Given the description of an element on the screen output the (x, y) to click on. 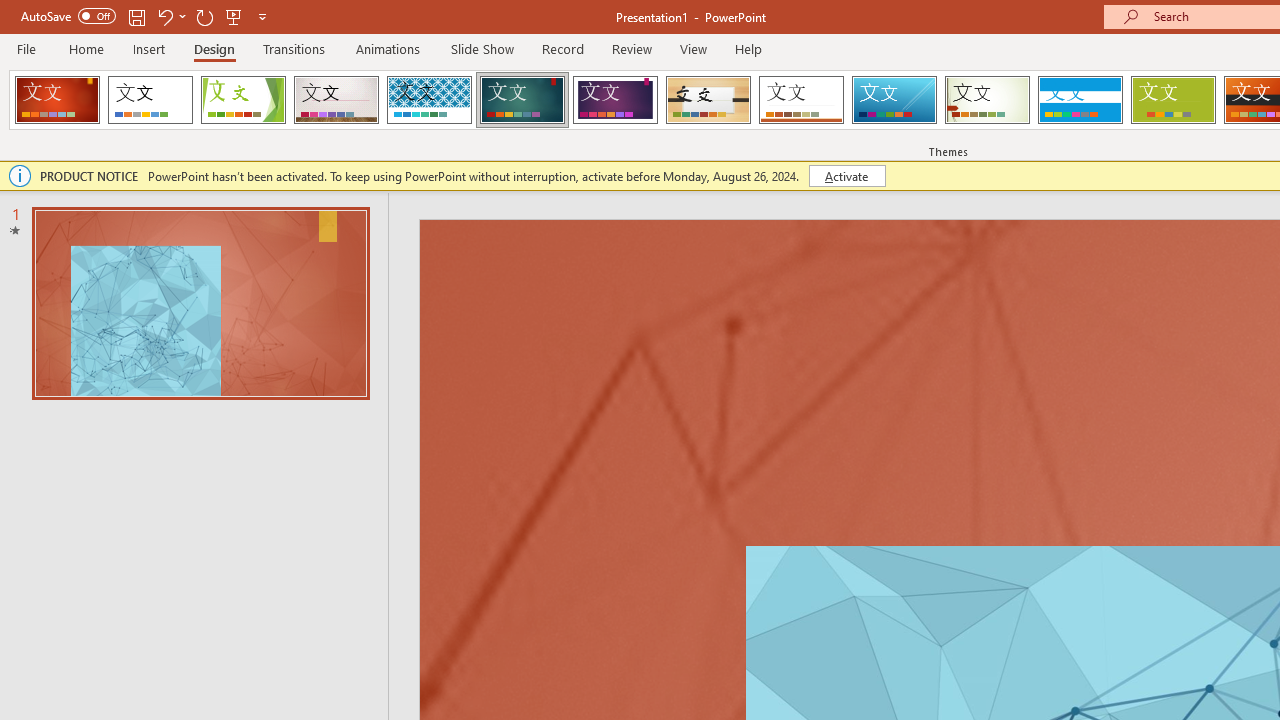
Basis (1172, 100)
